Given the description of an element on the screen output the (x, y) to click on. 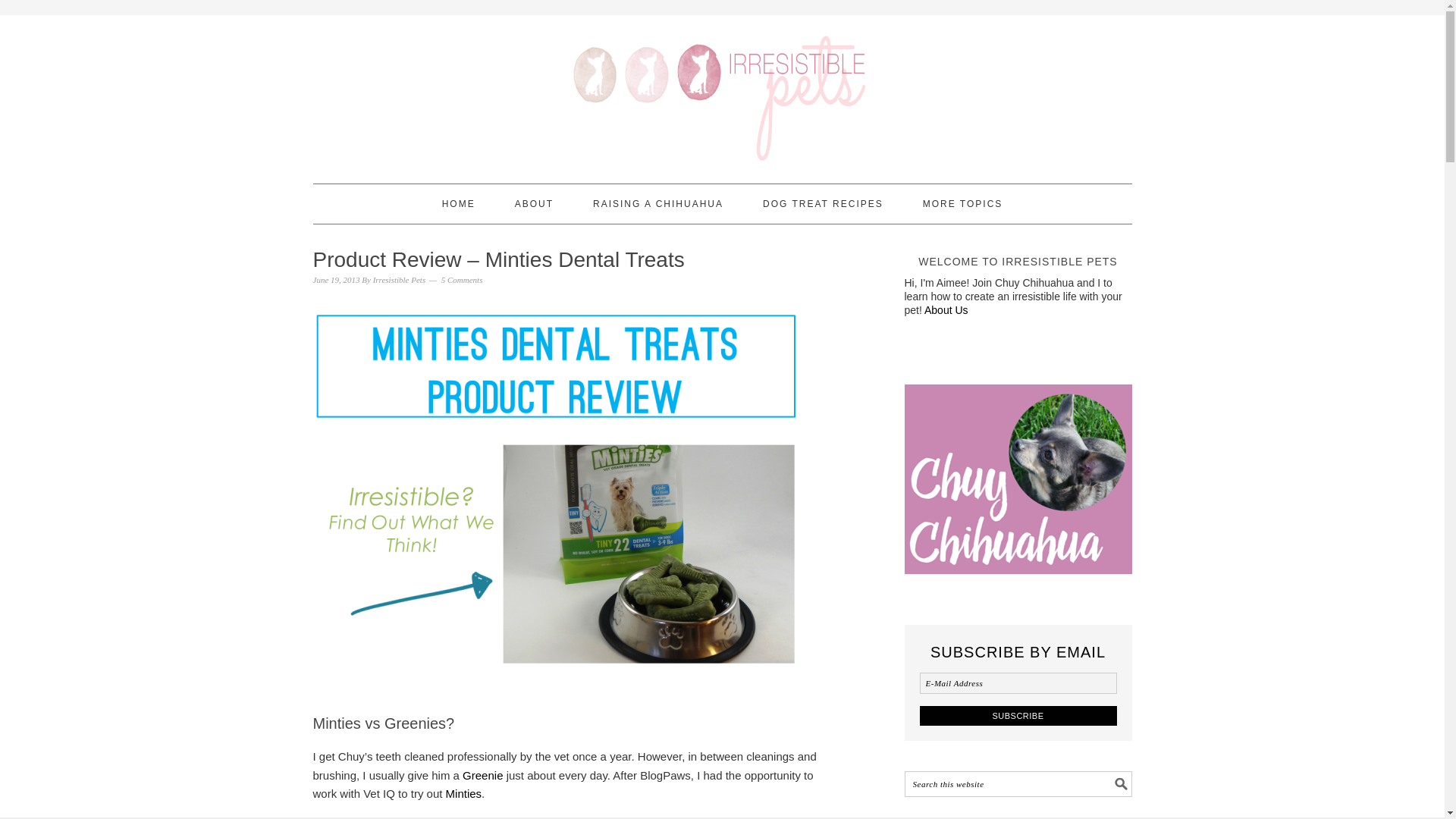
Subscribe (1017, 714)
Irresistible Pets (399, 279)
Greenie (482, 775)
5 Comments (462, 279)
RAISING A CHIHUAHUA (657, 203)
ABOUT (534, 203)
About Us (946, 309)
IRRESISTIBLE PETS (722, 92)
